Given the description of an element on the screen output the (x, y) to click on. 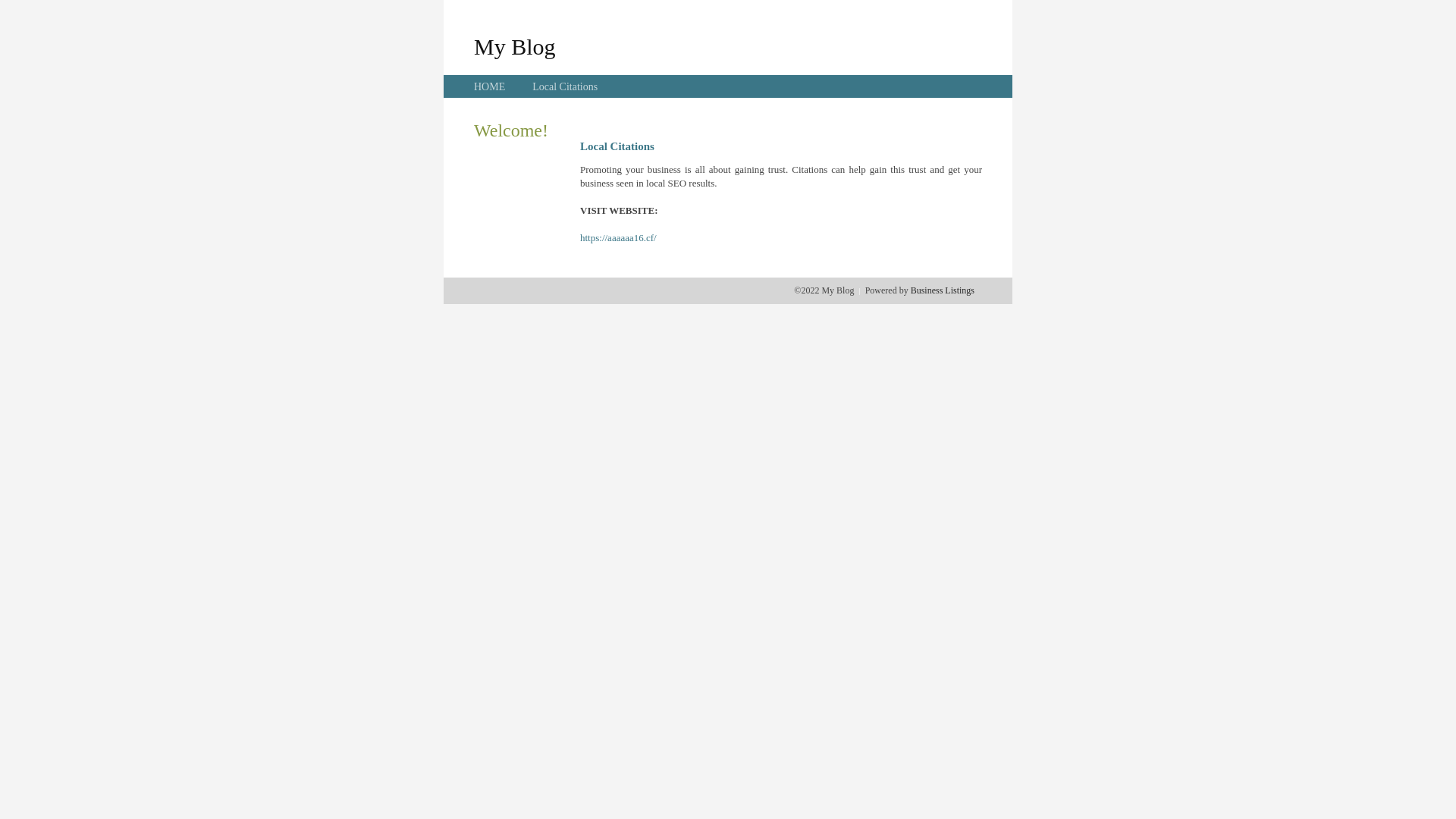
https://aaaaaa16.cf/ Element type: text (618, 237)
Business Listings Element type: text (942, 290)
My Blog Element type: text (514, 46)
HOME Element type: text (489, 86)
Local Citations Element type: text (564, 86)
